Given the description of an element on the screen output the (x, y) to click on. 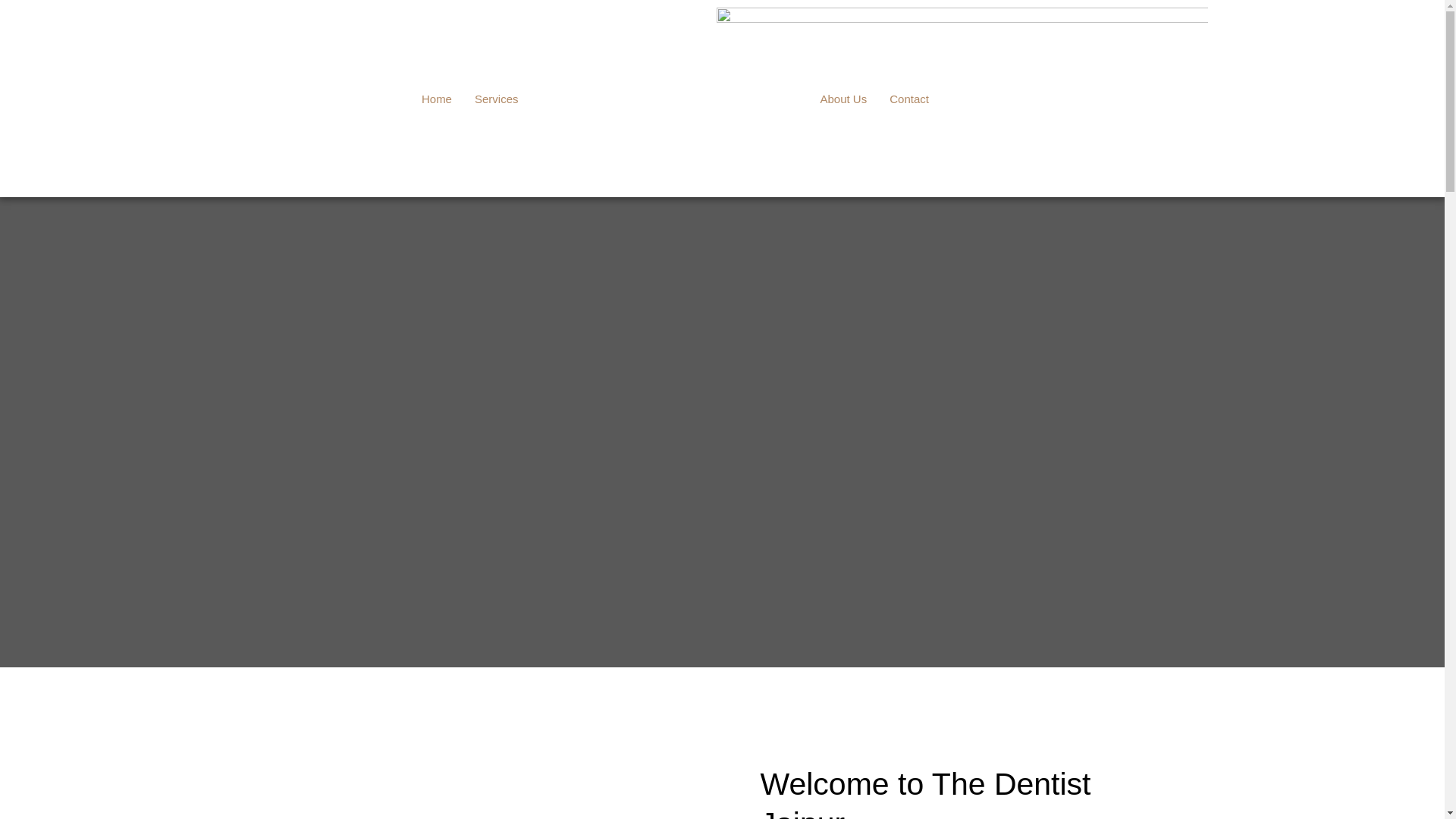
Phone-alt (1042, 98)
Whatsapp (1083, 98)
About Us (842, 98)
Contact (908, 98)
Home (436, 98)
Services (500, 98)
